Given the description of an element on the screen output the (x, y) to click on. 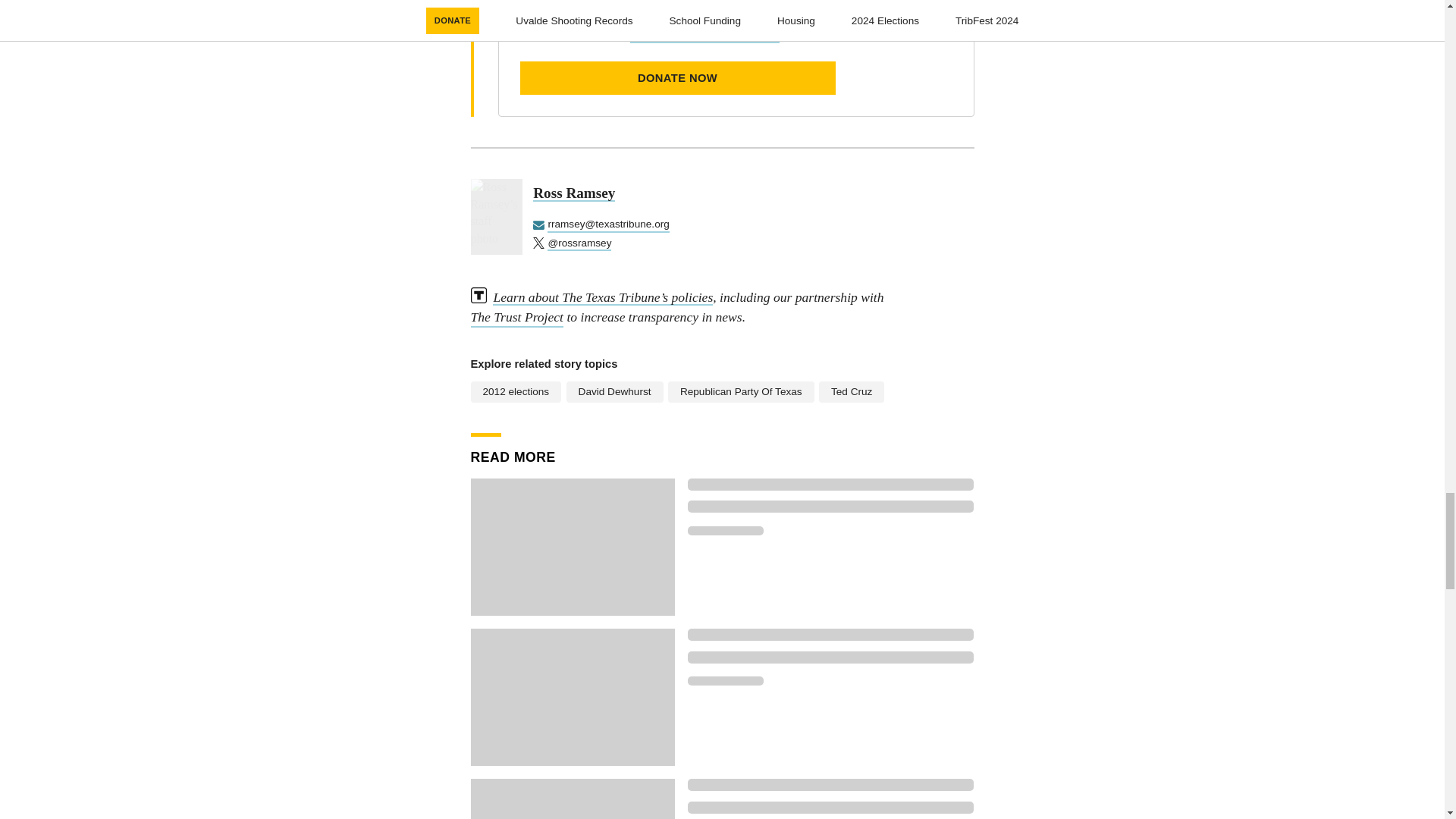
Loading indicator (830, 784)
Loading indicator (830, 657)
Loading indicator (830, 506)
Loading indicator (830, 634)
Loading indicator (724, 680)
Loading indicator (724, 530)
Loading indicator (830, 807)
Loading indicator (830, 484)
